Given the description of an element on the screen output the (x, y) to click on. 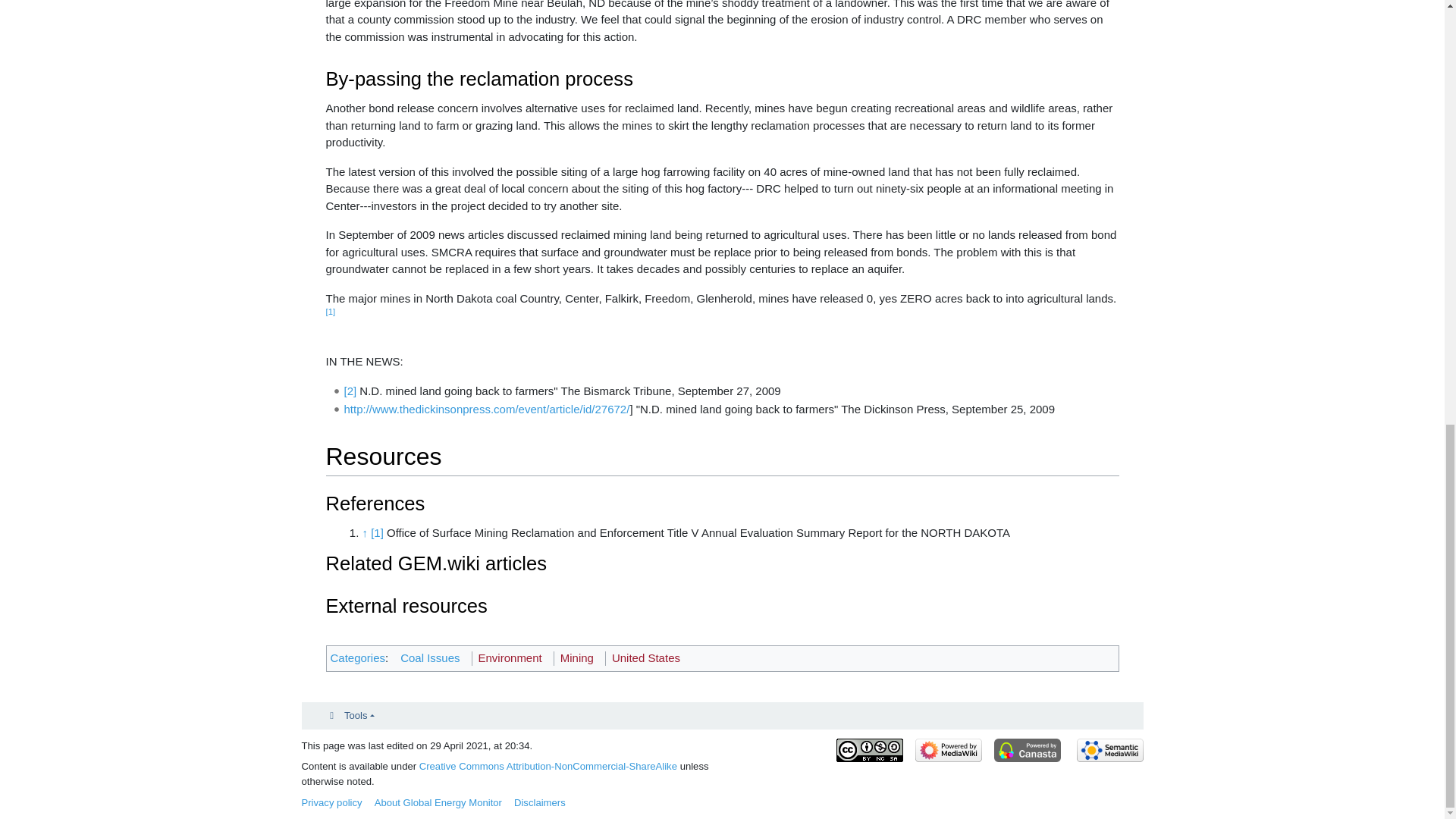
Special:Categories (357, 657)
Category:Coal Issues (430, 657)
